Given the description of an element on the screen output the (x, y) to click on. 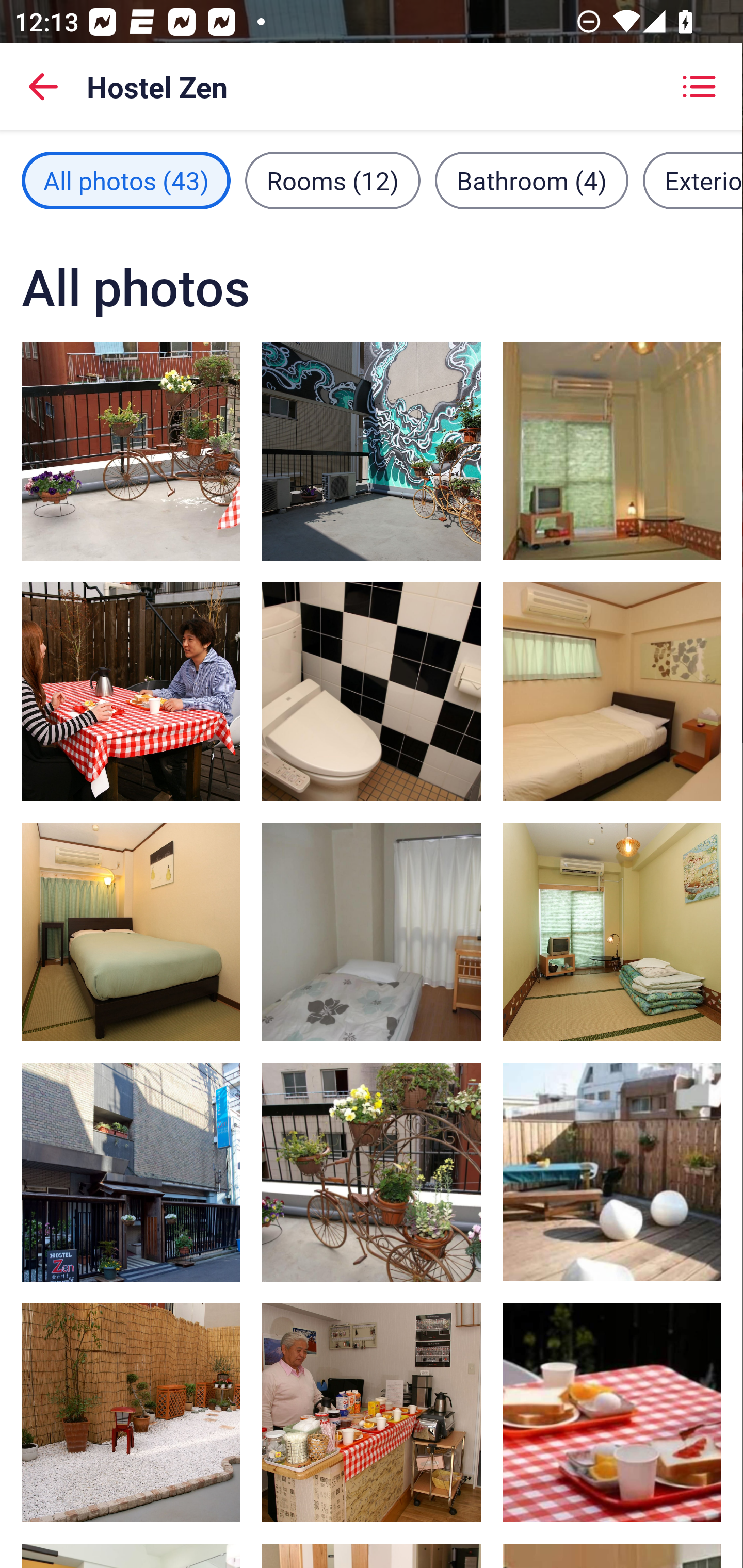
Back (43, 86)
Showing grid view (699, 86)
All photos filter, 43 images (125, 180)
Rooms filter, 12 images (332, 180)
Bathroom filter, 4 images (531, 180)
Balcony, image (130, 451)
Terrace/patio, image (371, 451)
Breakfast area, image (130, 691)
Slippers, towels, image (371, 691)
Property entrance, image (130, 1172)
Balcony, image (371, 1172)
Balcony, image (611, 1172)
Interior, image (130, 1412)
Breakfast area, image (371, 1412)
Restaurant, image (611, 1411)
